Given the description of an element on the screen output the (x, y) to click on. 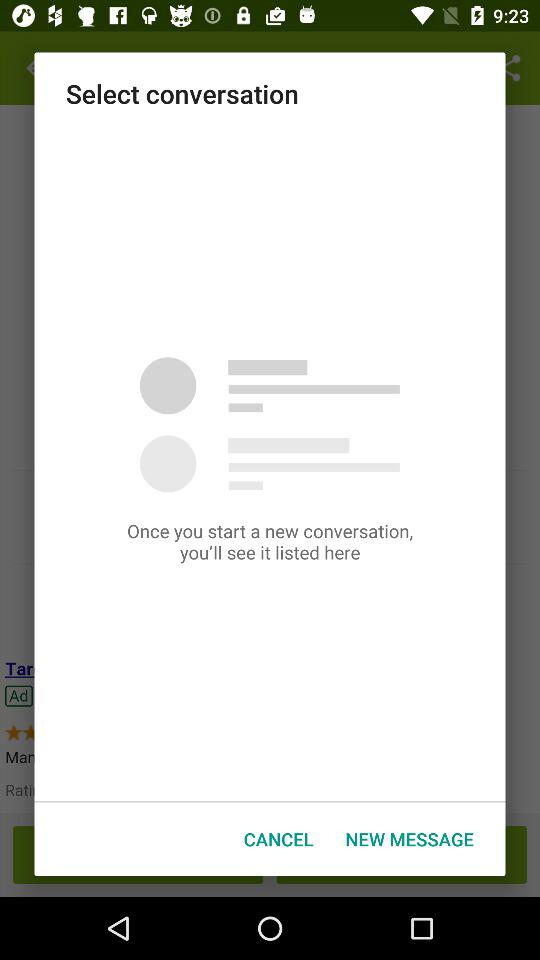
turn on the item next to the cancel icon (409, 838)
